Given the description of an element on the screen output the (x, y) to click on. 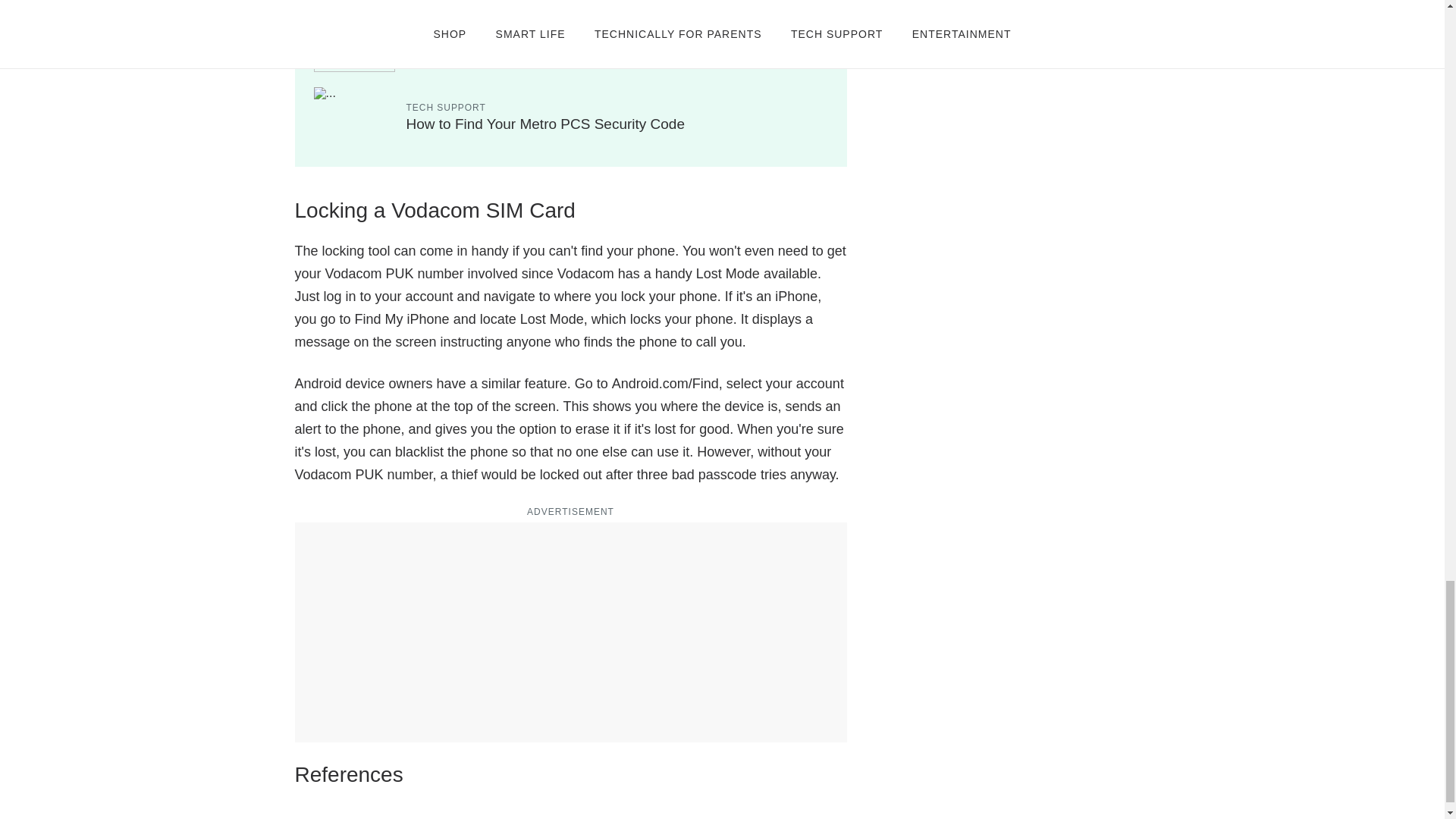
How to Get a Phone Out of Emergency Mode (550, 48)
How to Find Your Metro PCS Security Code (545, 123)
